Given the description of an element on the screen output the (x, y) to click on. 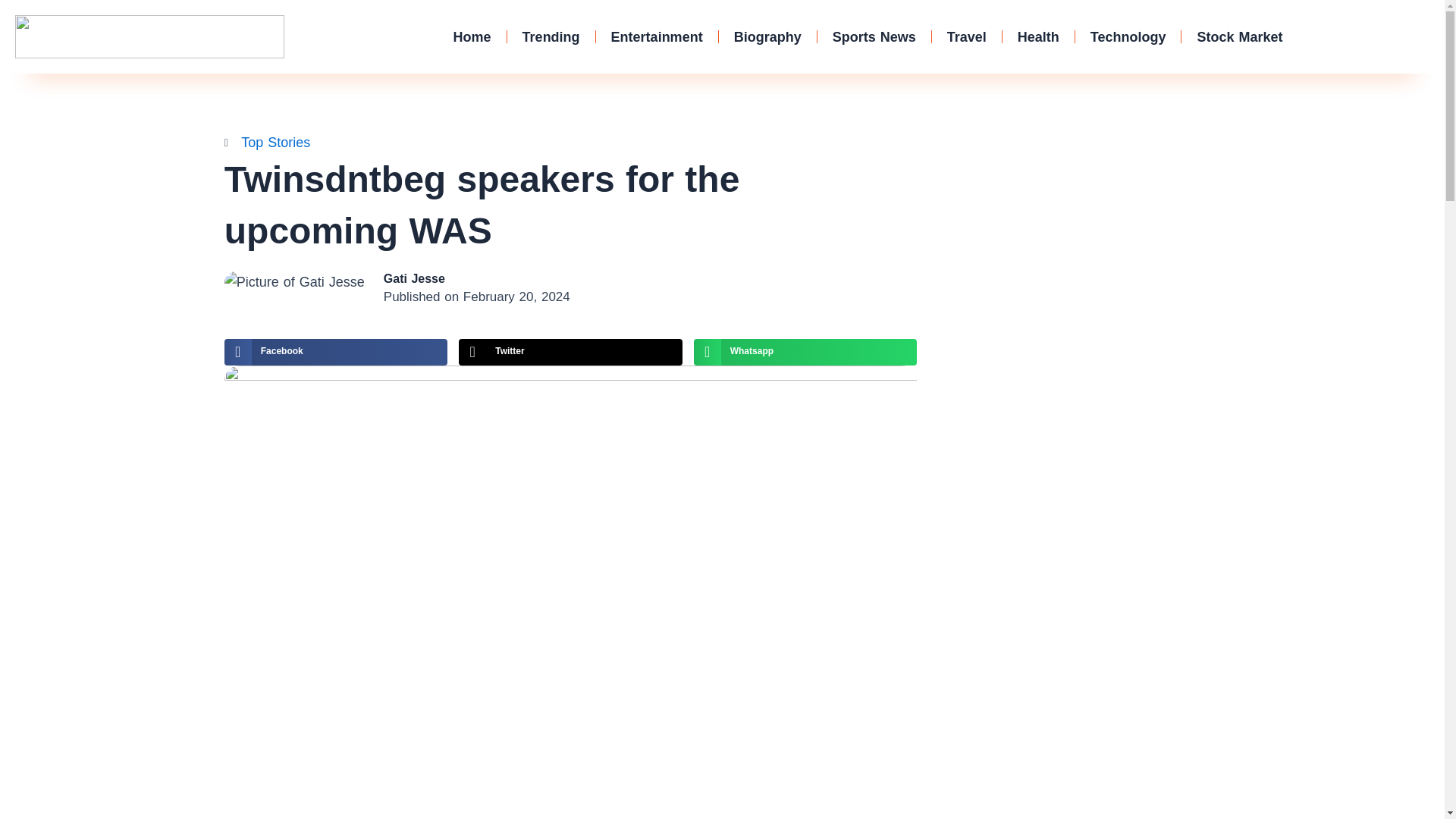
Biography (767, 36)
Stock Market (1238, 36)
Home (472, 36)
Trending (335, 352)
Technology (550, 36)
Sports News (805, 352)
Entertainment (1127, 36)
Health (873, 36)
Top Stories (656, 36)
Travel (1038, 36)
